Given the description of an element on the screen output the (x, y) to click on. 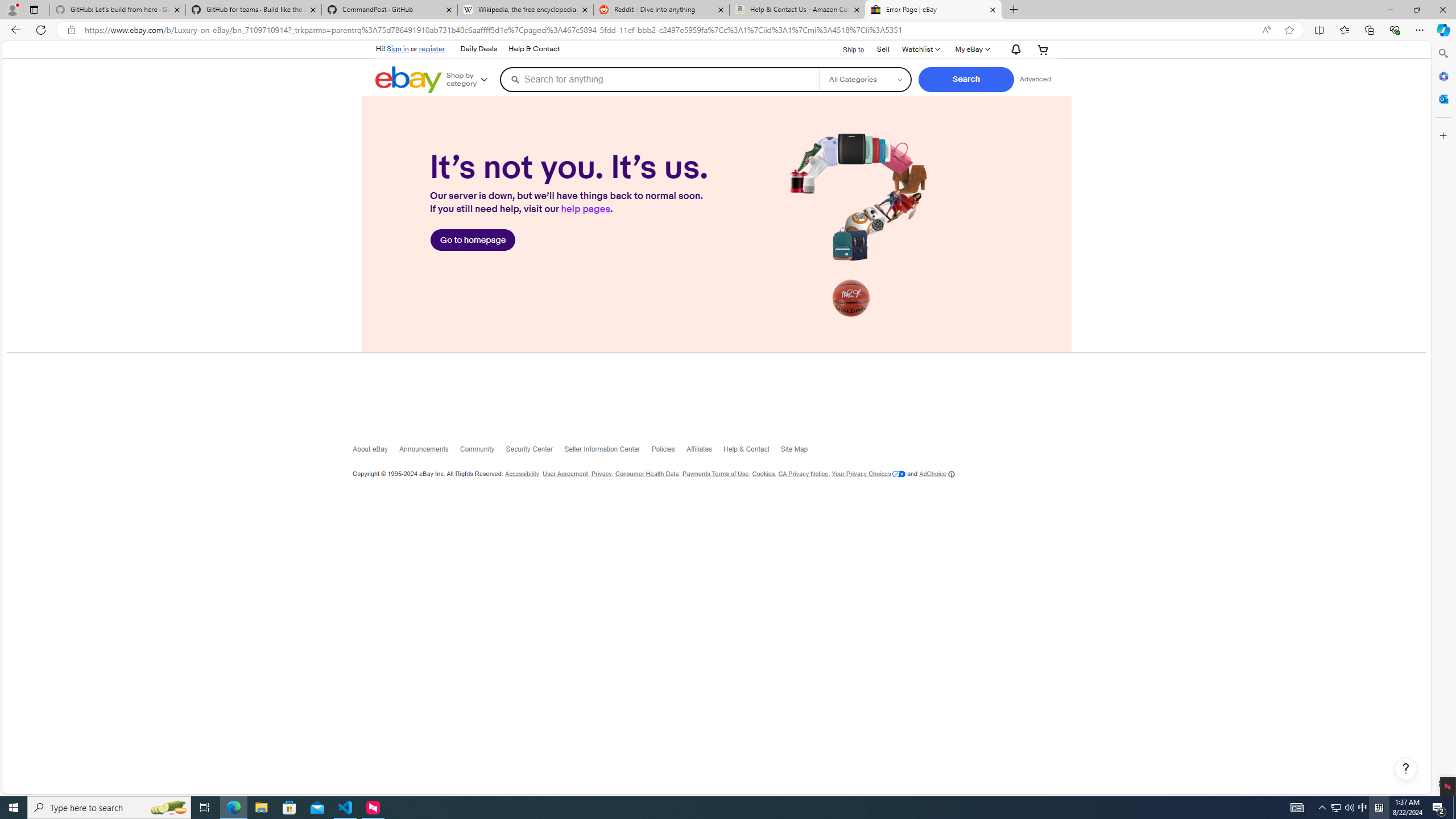
Site Map (799, 451)
Error Page | eBay (933, 9)
Your Privacy Choices (868, 473)
Security Center (534, 451)
Side bar (1443, 418)
Notifications (1012, 49)
help pages (585, 208)
Go to homepage (472, 239)
About eBay (376, 451)
eBay Home (408, 79)
Your shopping cart (1042, 49)
